Given the description of an element on the screen output the (x, y) to click on. 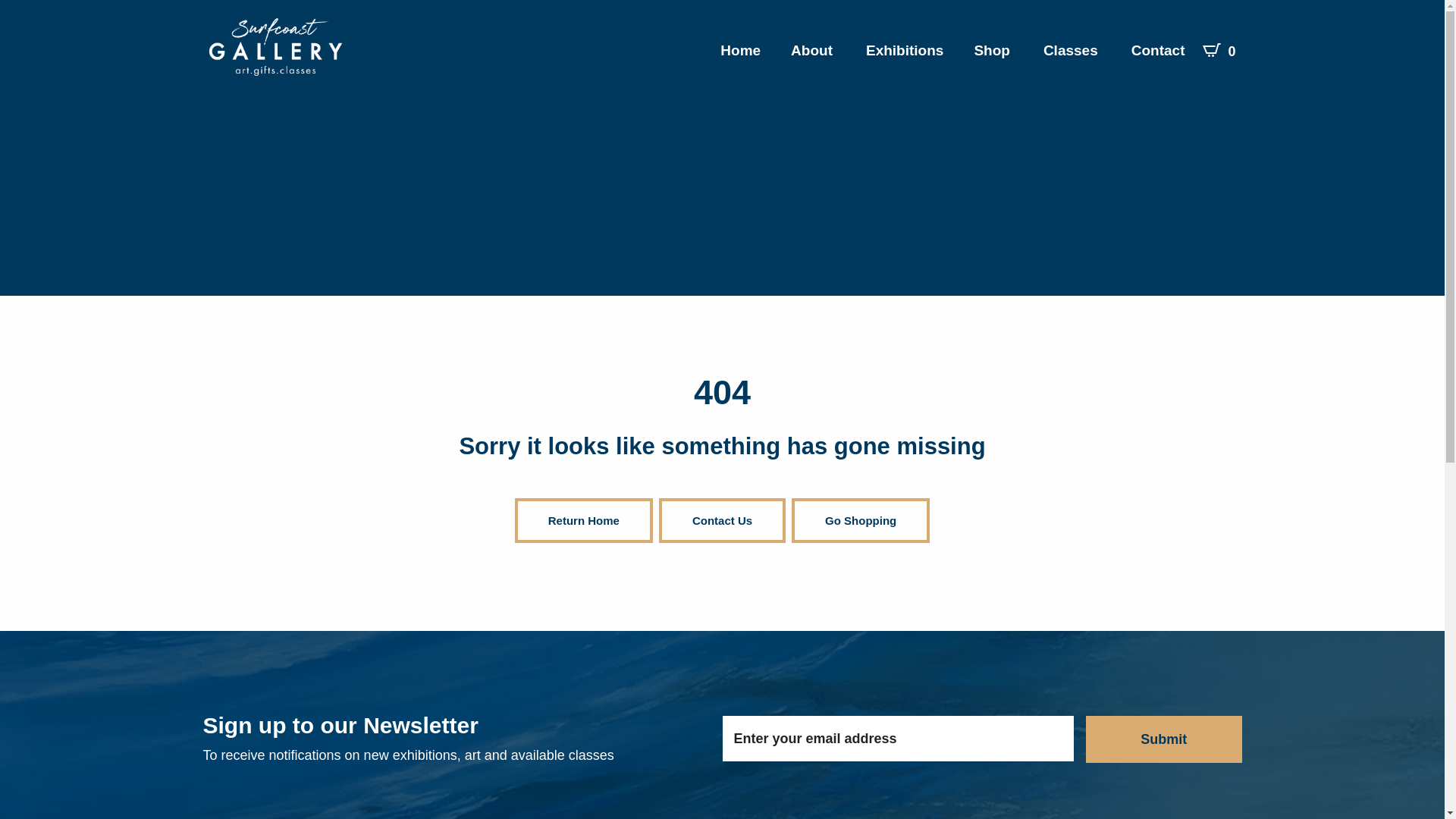
Contact Us Element type: text (721, 520)
Contact Element type: text (1159, 49)
Exhibitions Element type: text (904, 49)
Home Element type: text (740, 49)
Return Home Element type: text (583, 520)
Submit Element type: text (1163, 738)
Classes Element type: text (1072, 49)
About Element type: text (812, 49)
Go Shopping Element type: text (860, 520)
0 Element type: text (1218, 49)
Shop Element type: text (993, 49)
